Given the description of an element on the screen output the (x, y) to click on. 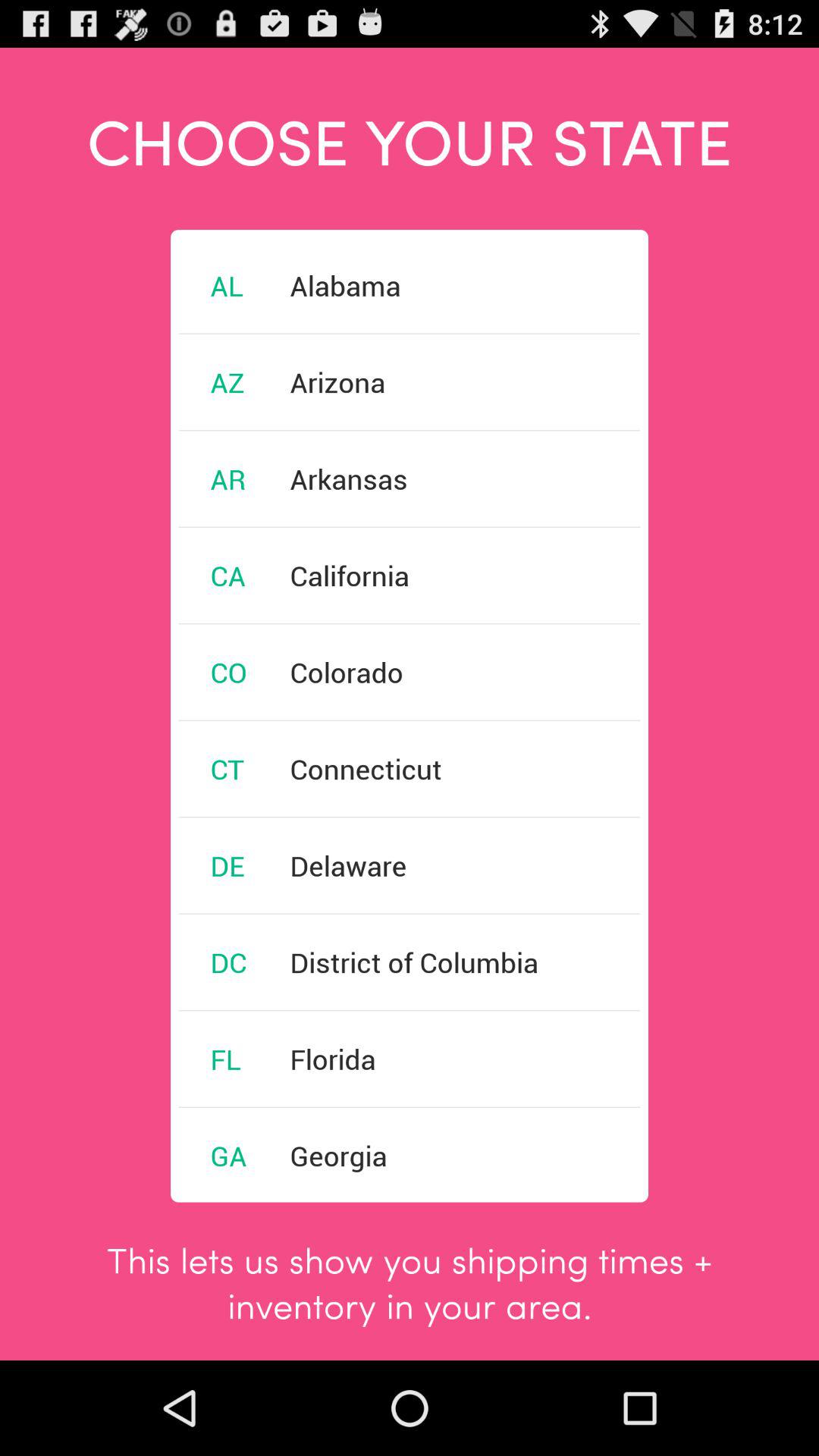
flip until co (228, 672)
